Given the description of an element on the screen output the (x, y) to click on. 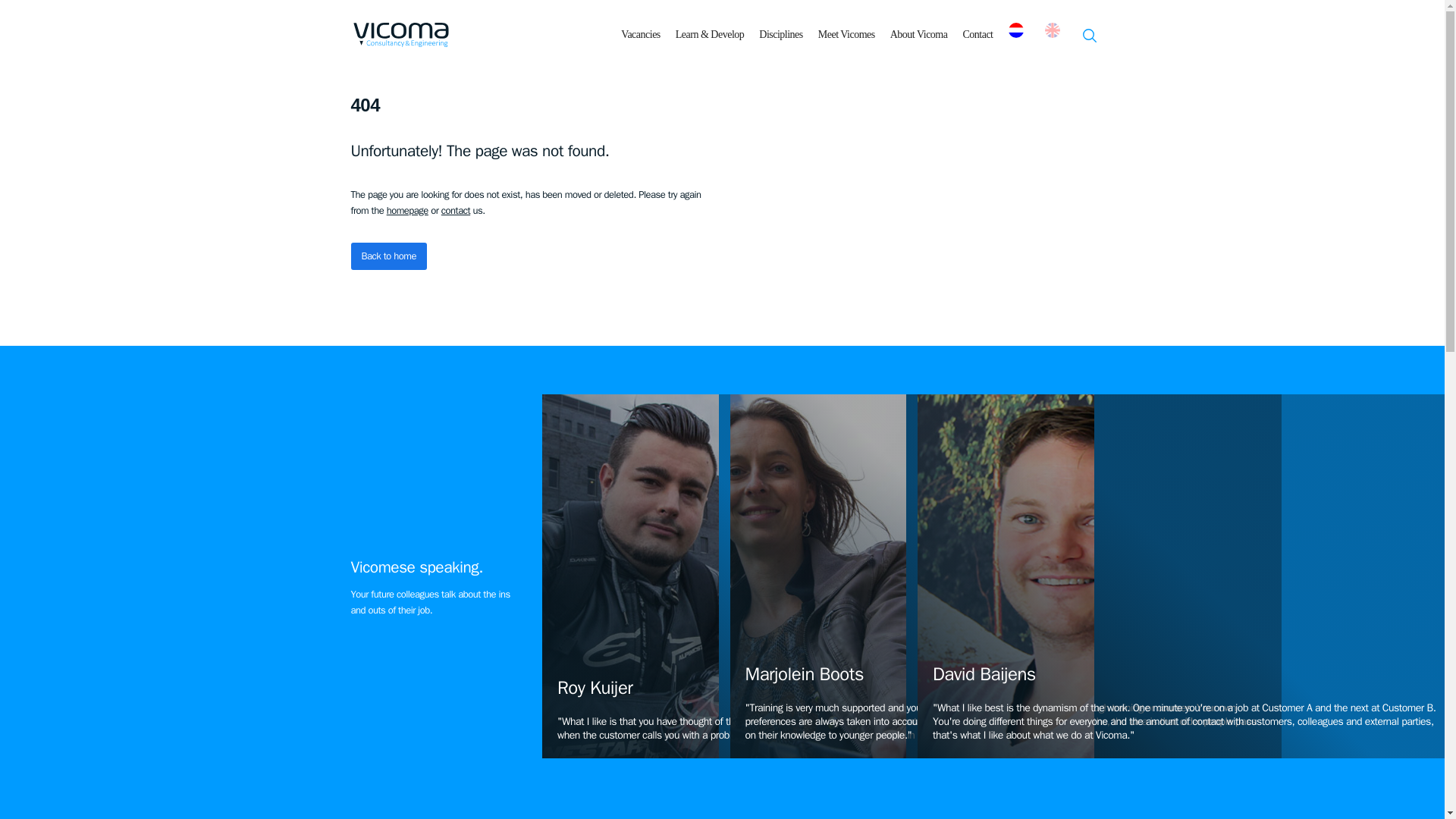
About Vicoma (918, 34)
Disciplines (780, 34)
Vacancies (639, 34)
Meet Vicomes (846, 34)
